Given the description of an element on the screen output the (x, y) to click on. 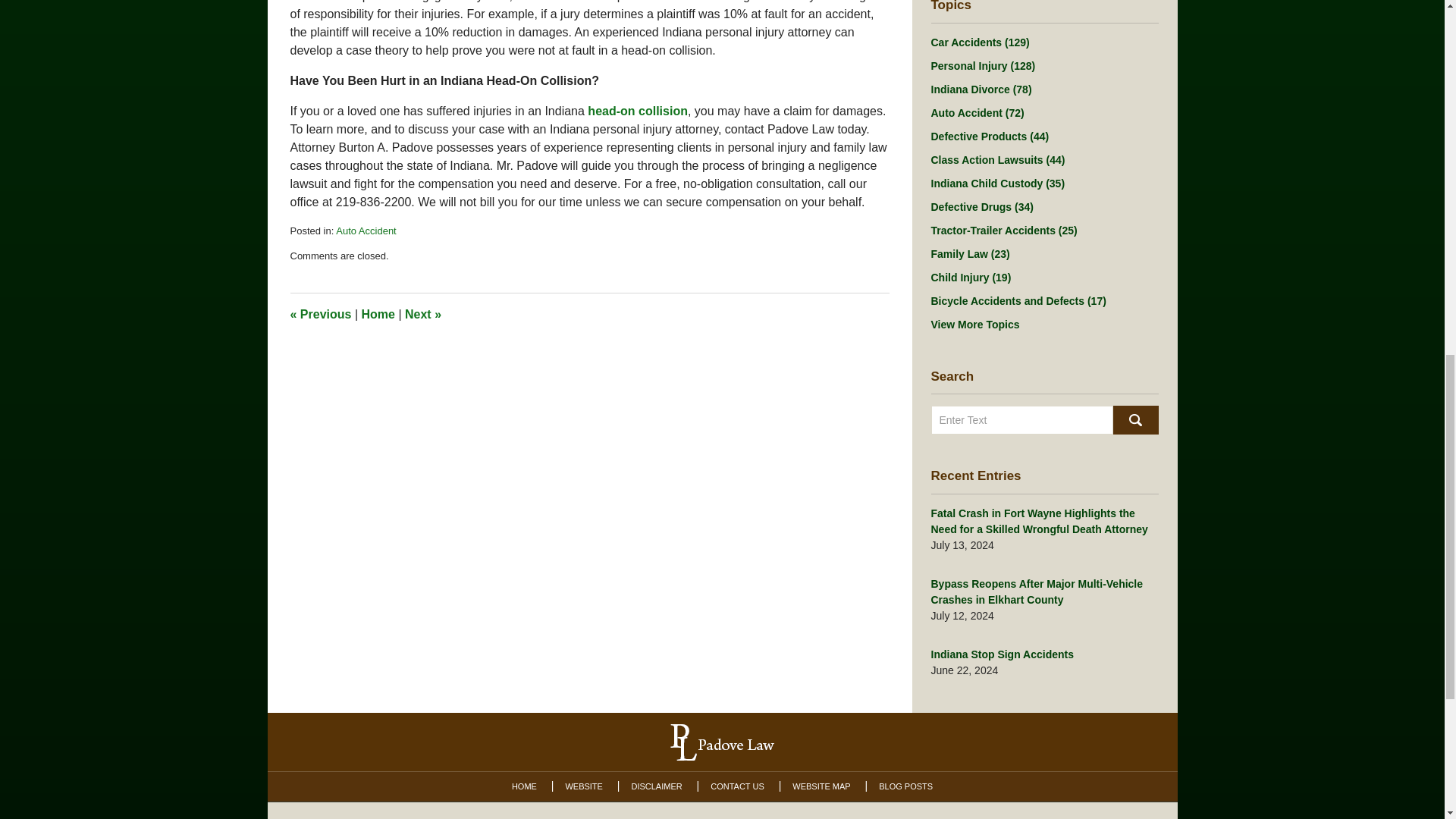
Man Seriously Injured in Indiana Fallen Bicycle Accident (422, 314)
Auto Accident (366, 230)
View all posts in Auto Accident (366, 230)
head-on collision (637, 110)
Home (377, 314)
Establishing Fault for Indiana Improper Turn Accidents (319, 314)
